Given the description of an element on the screen output the (x, y) to click on. 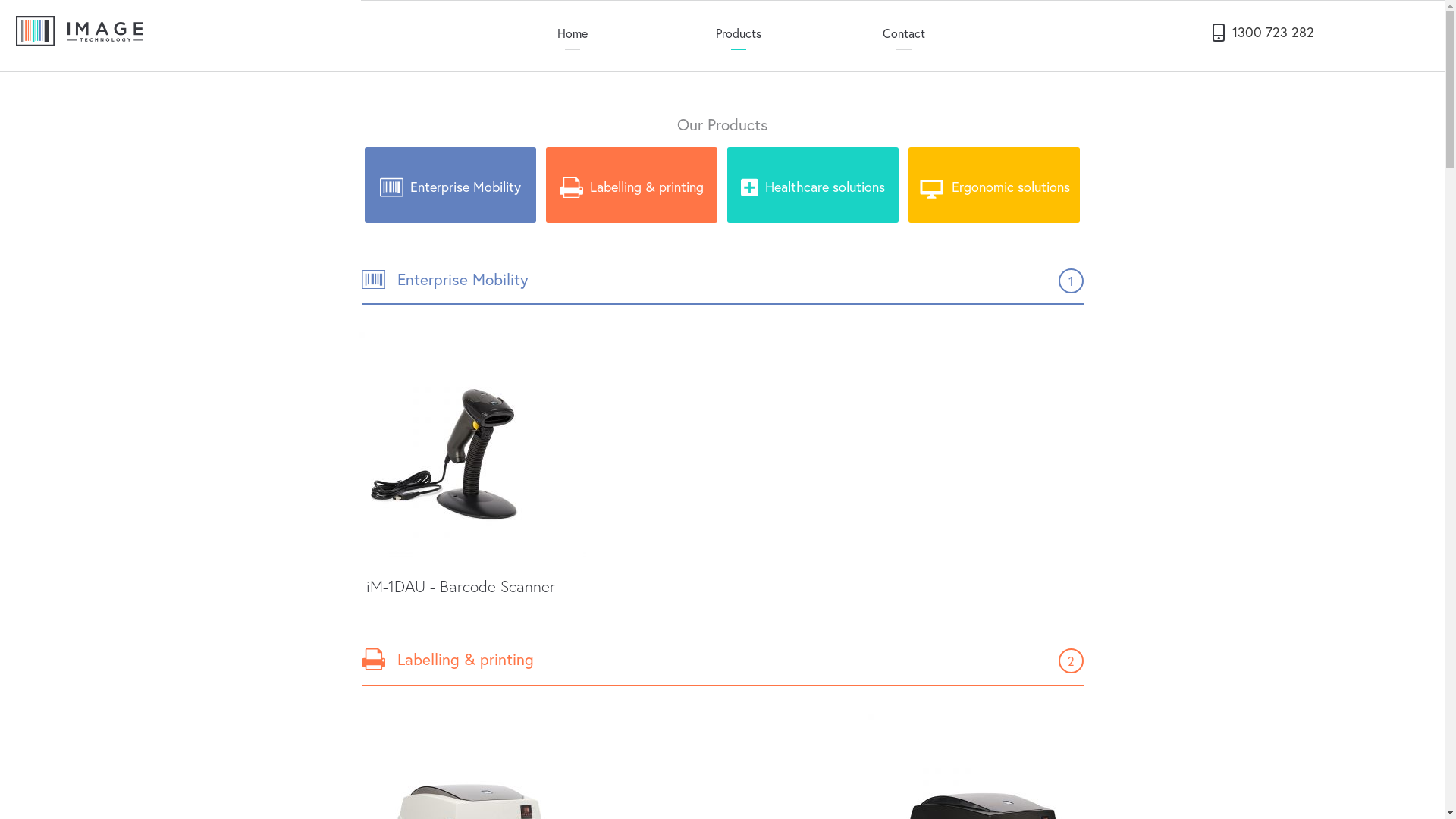
Image Technology Element type: hover (79, 30)
iM-1DAU - Barcode Scanner Element type: text (471, 472)
Home Element type: text (572, 31)
Enterprise Mobility Element type: text (450, 184)
Healthcare solutions Element type: text (812, 184)
Contact Element type: text (903, 31)
Ergonomic solutions Element type: text (993, 184)
Labelling & printing Element type: text (631, 184)
1300 723 282 Element type: text (1259, 30)
Products Element type: text (738, 31)
